Given the description of an element on the screen output the (x, y) to click on. 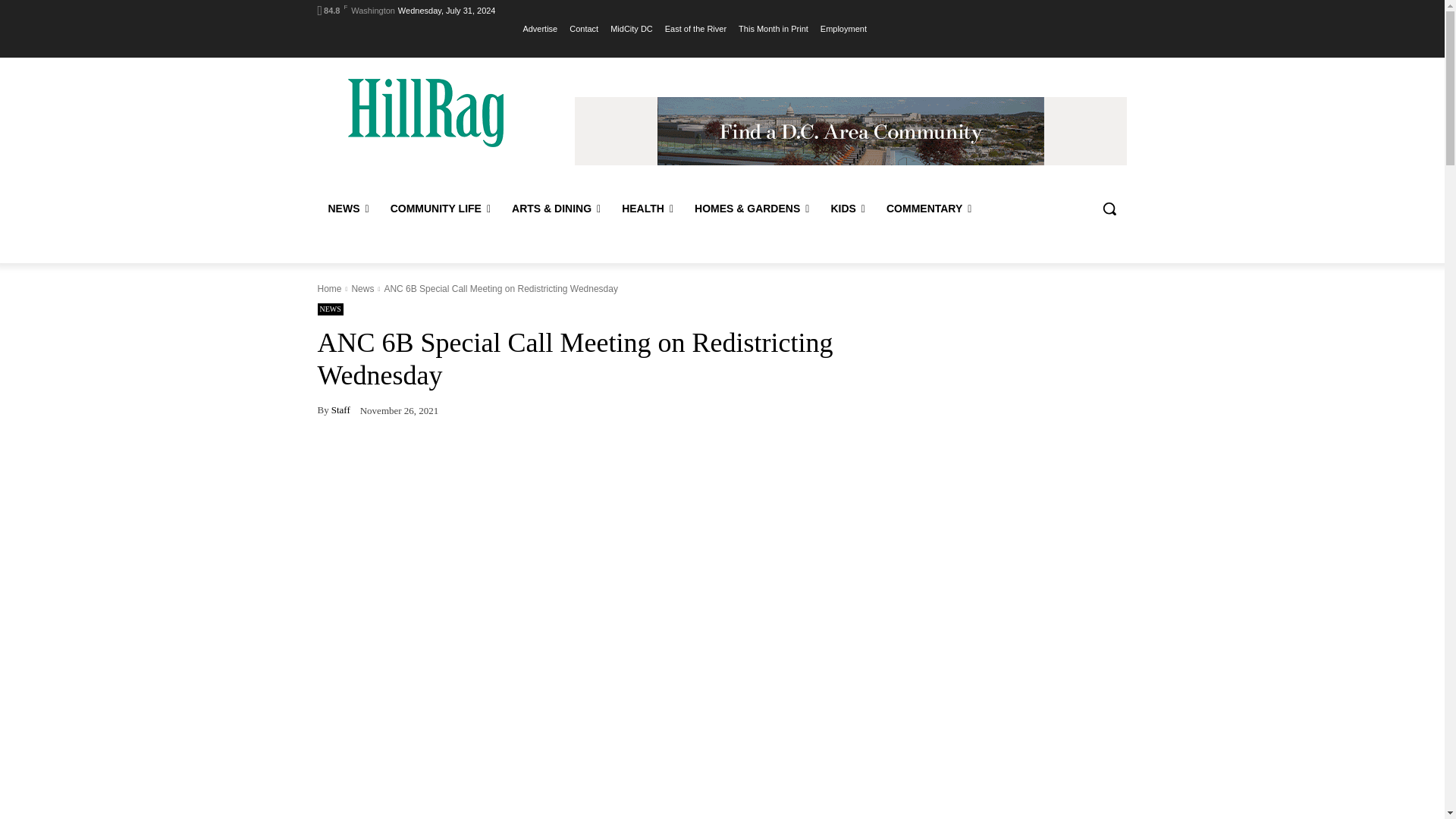
COMMUNITY LIFE (440, 208)
Employment (843, 28)
This Month in Print (773, 28)
East of the River (695, 28)
MidCity DC (631, 28)
Advertise (539, 28)
Contact (583, 28)
NEWS (347, 208)
